Given the description of an element on the screen output the (x, y) to click on. 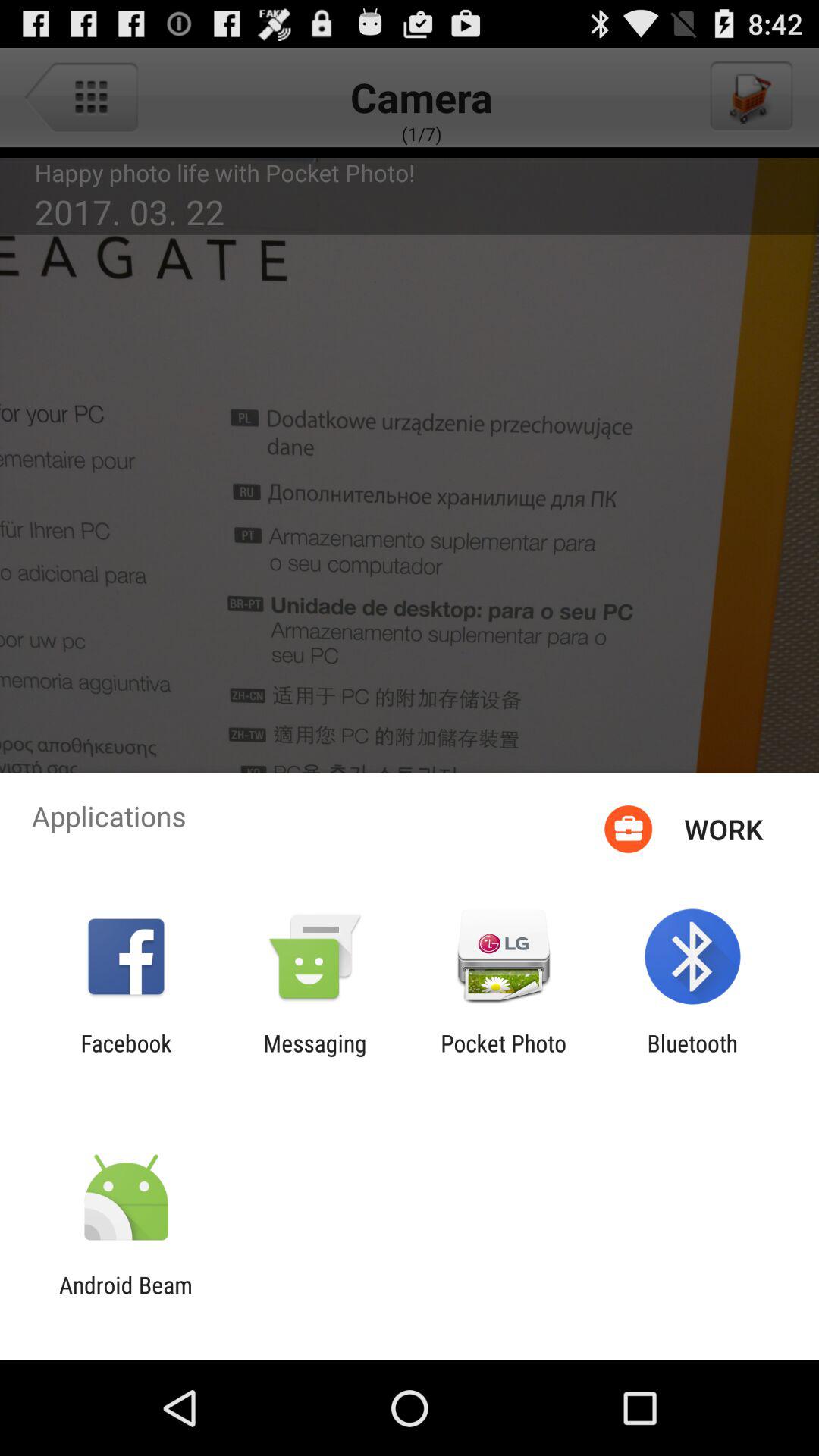
click item to the right of pocket photo app (692, 1056)
